Given the description of an element on the screen output the (x, y) to click on. 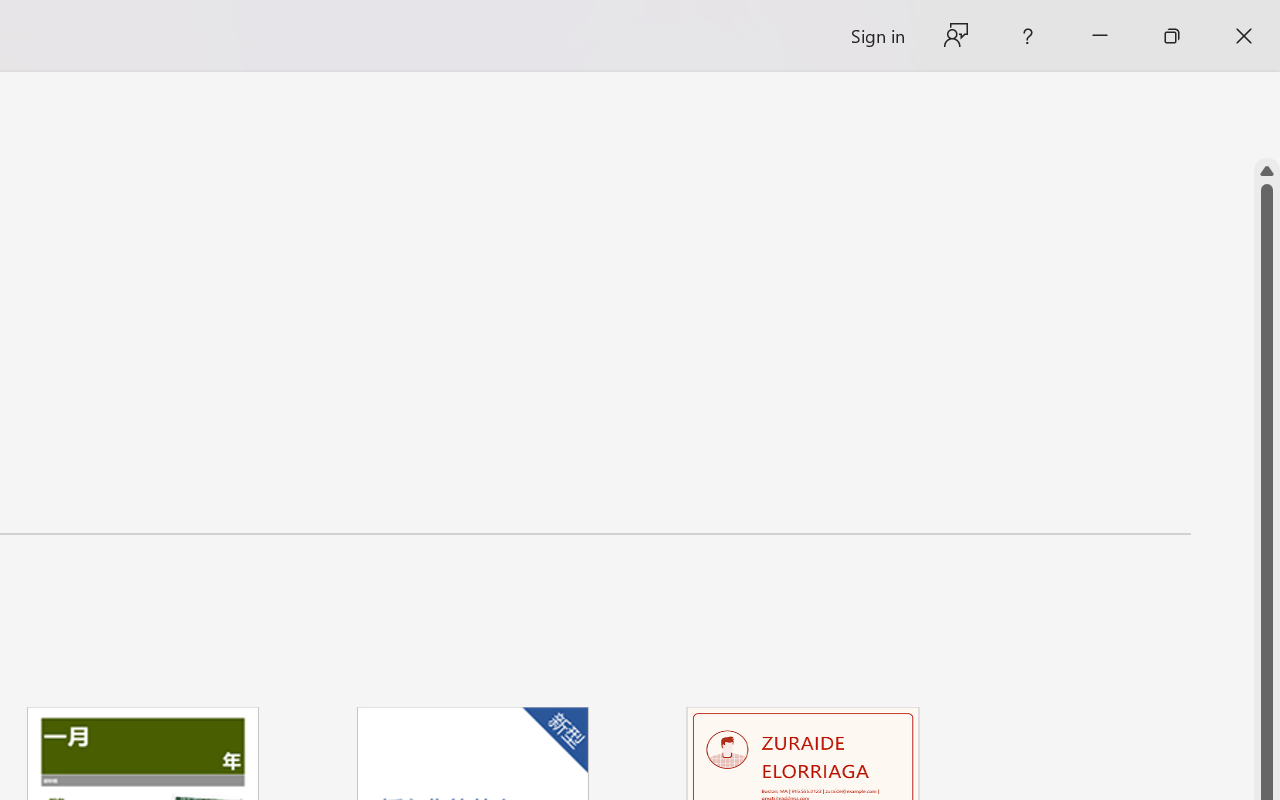
Line up (1267, 171)
